Given the description of an element on the screen output the (x, y) to click on. 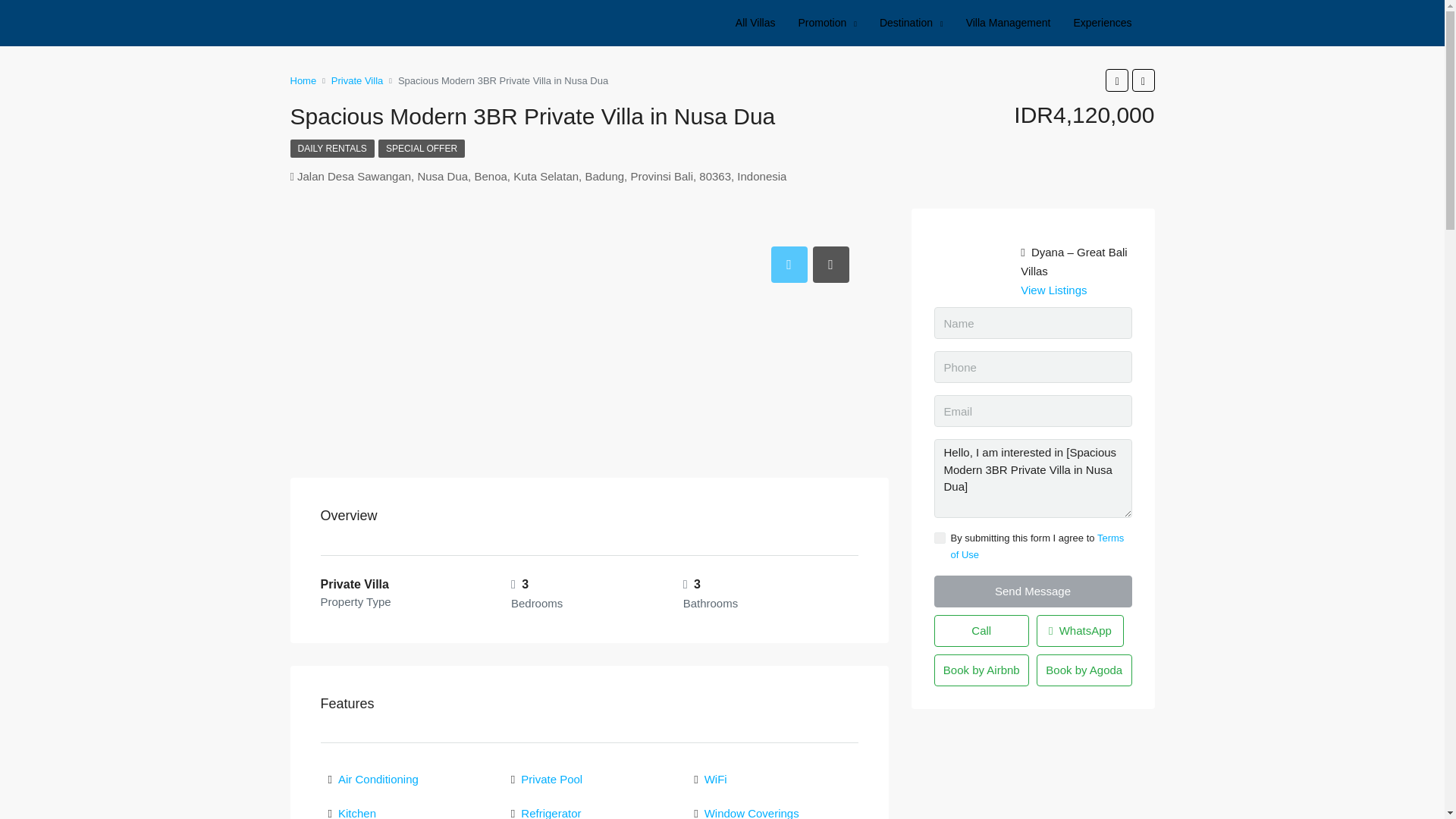
Promotion (826, 23)
Experiences (1101, 22)
Villa Management (1008, 22)
All Villas (755, 22)
Home (302, 80)
Private Villa (356, 80)
Destination (911, 23)
